Given the description of an element on the screen output the (x, y) to click on. 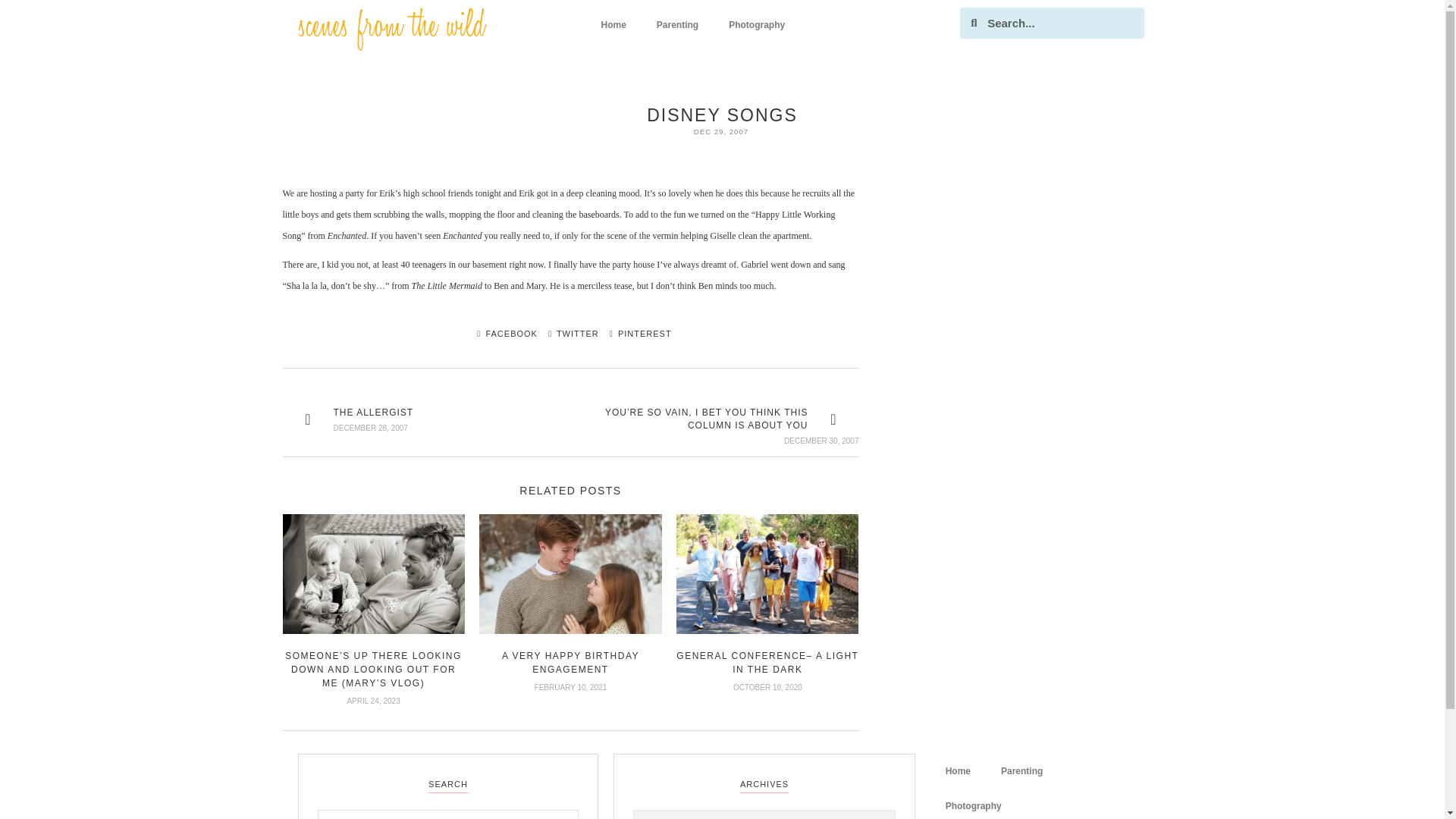
Home (957, 770)
Photography (756, 24)
Photography (973, 803)
Parenting (677, 24)
Untitled-1-1 (391, 28)
PINTEREST (636, 333)
Parenting (1021, 770)
TWITTER (569, 333)
Home (612, 24)
FACEBOOK (502, 333)
